Given the description of an element on the screen output the (x, y) to click on. 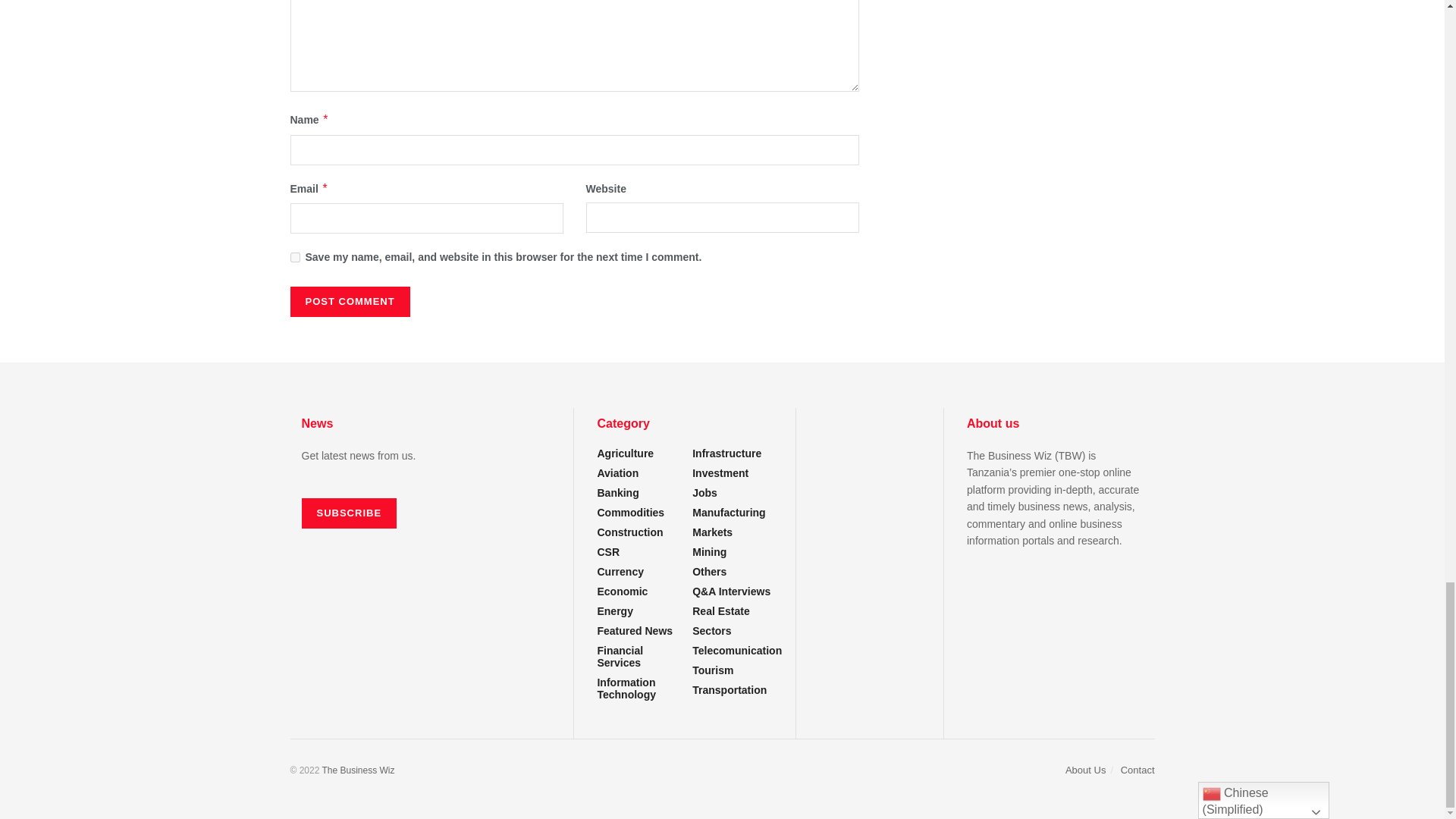
Post Comment (349, 301)
under sectors (624, 453)
under sectors (613, 611)
yes (294, 257)
under sectors (629, 532)
under sectors (730, 689)
under sectors (737, 650)
under sectors (636, 688)
under sectors (636, 656)
under sectors (709, 551)
